Given the description of an element on the screen output the (x, y) to click on. 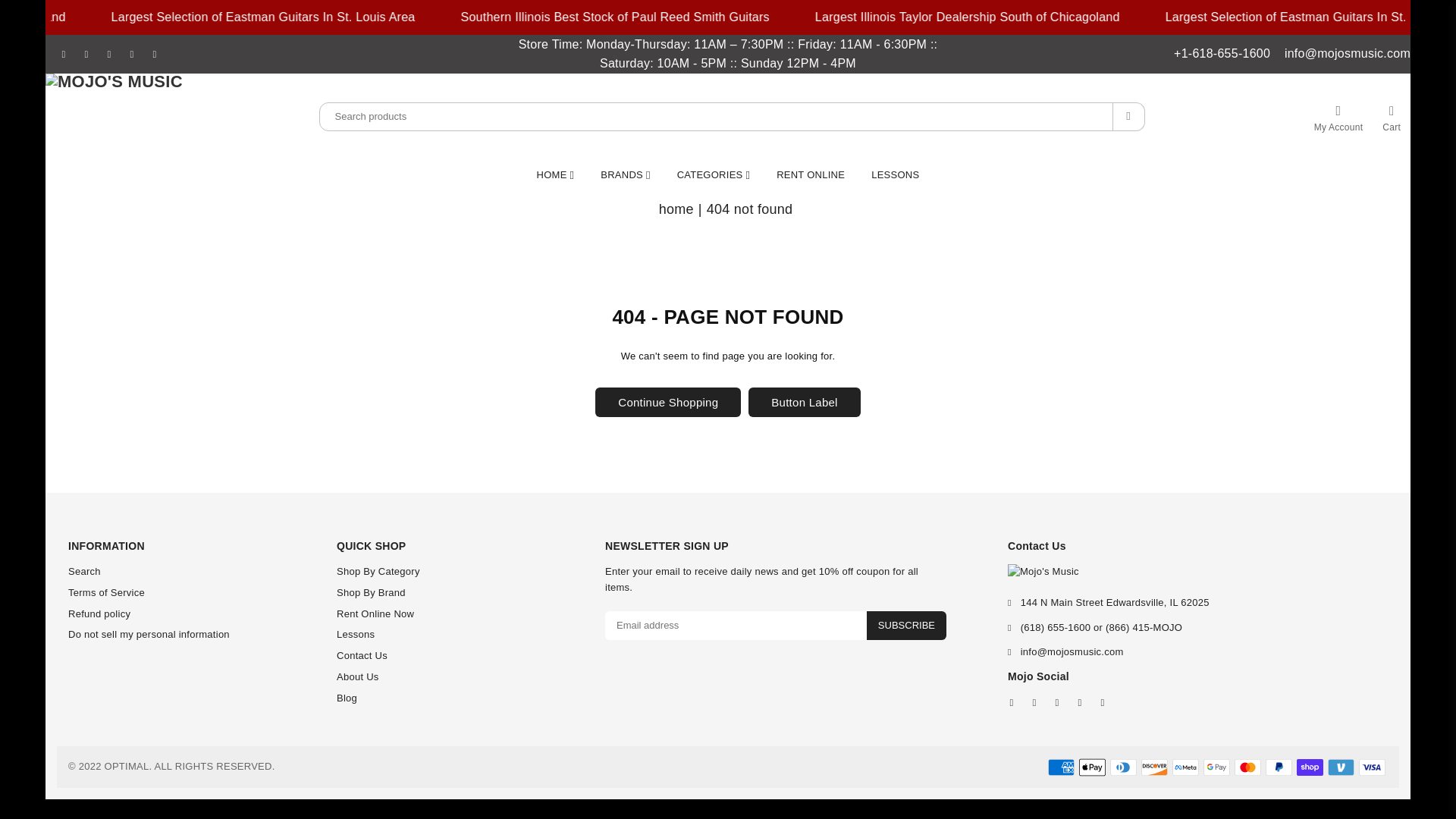
SUBSCRIBE (906, 624)
Diners Club (1123, 767)
Visa (1372, 767)
Back to the home page (677, 209)
Meta Pay (1185, 767)
Mojo's Music on Facebook (1011, 702)
Mastercard (1247, 767)
Google Pay (1217, 767)
MOJO'S MUSIC (159, 116)
BRANDS (625, 175)
